Given the description of an element on the screen output the (x, y) to click on. 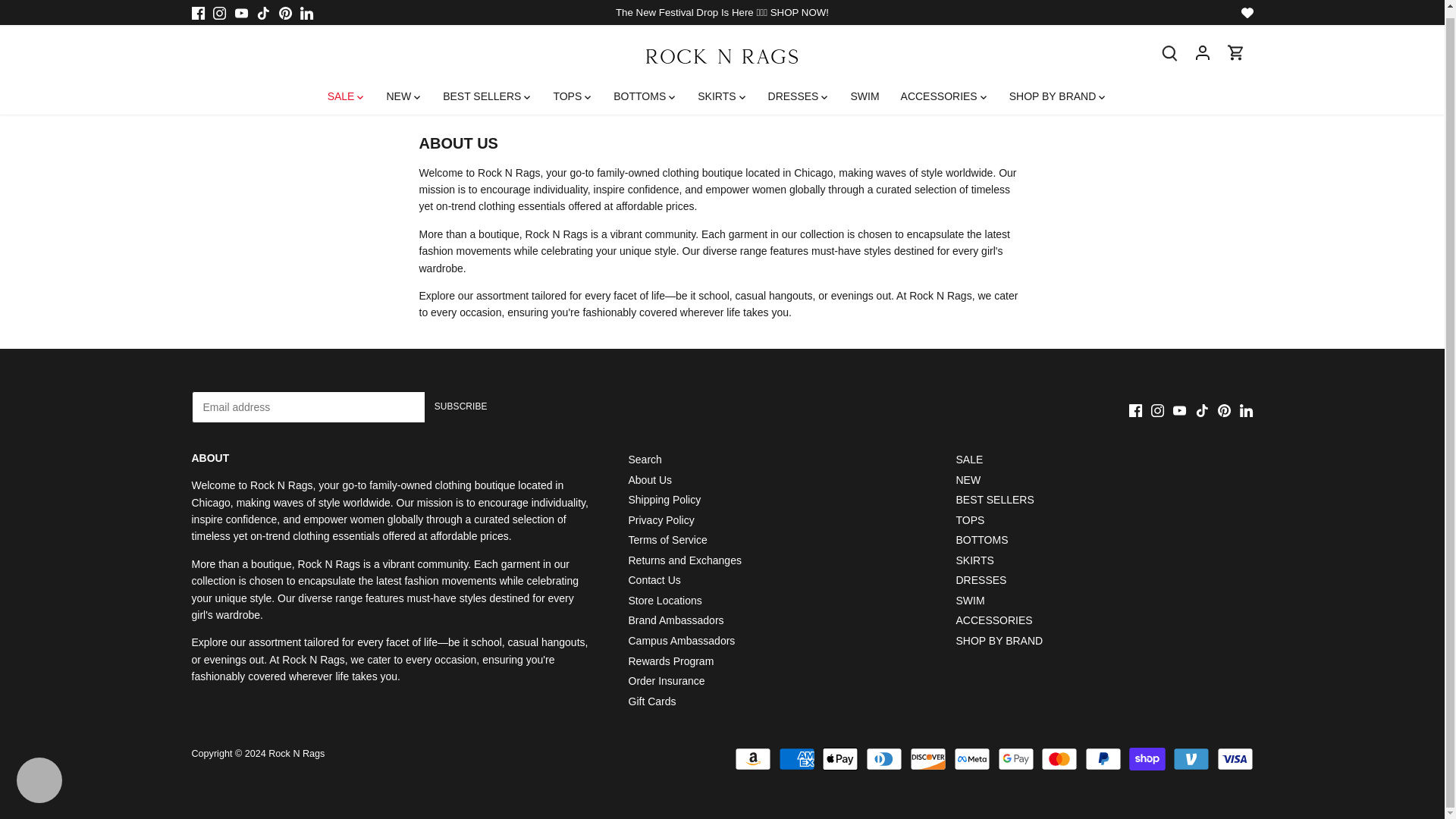
Subscribe (461, 407)
SALE (346, 89)
Pinterest (285, 6)
Instagram (218, 6)
Facebook (196, 6)
Facebook (196, 6)
Instagram (218, 6)
NEW (398, 89)
Facebook (1135, 410)
BEST SELLERS (481, 89)
Youtube (240, 6)
Youtube (240, 6)
Pinterest (285, 6)
TOPS (566, 89)
